Given the description of an element on the screen output the (x, y) to click on. 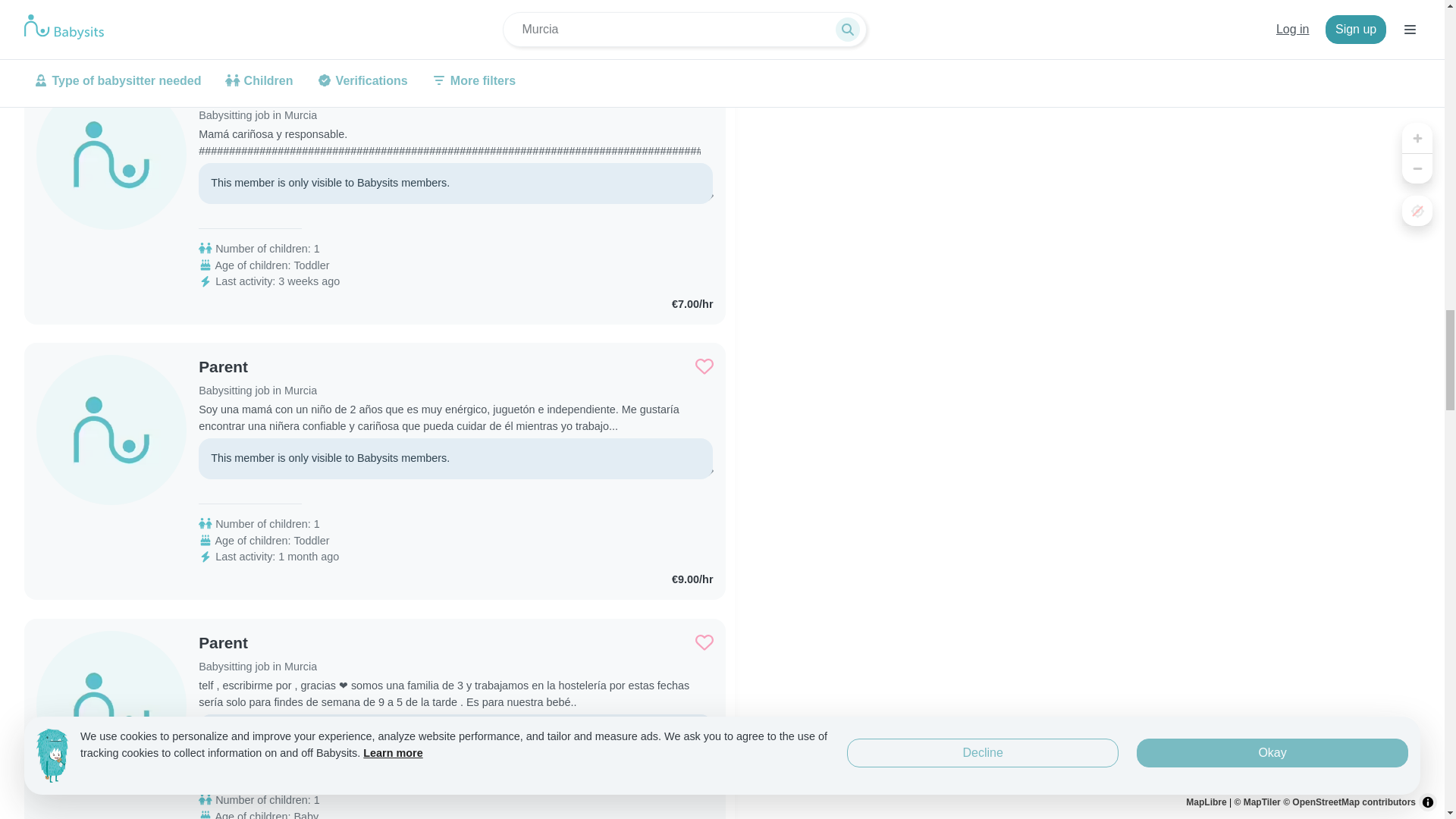
Profile parent Parent - Murcia (257, 101)
